Given the description of an element on the screen output the (x, y) to click on. 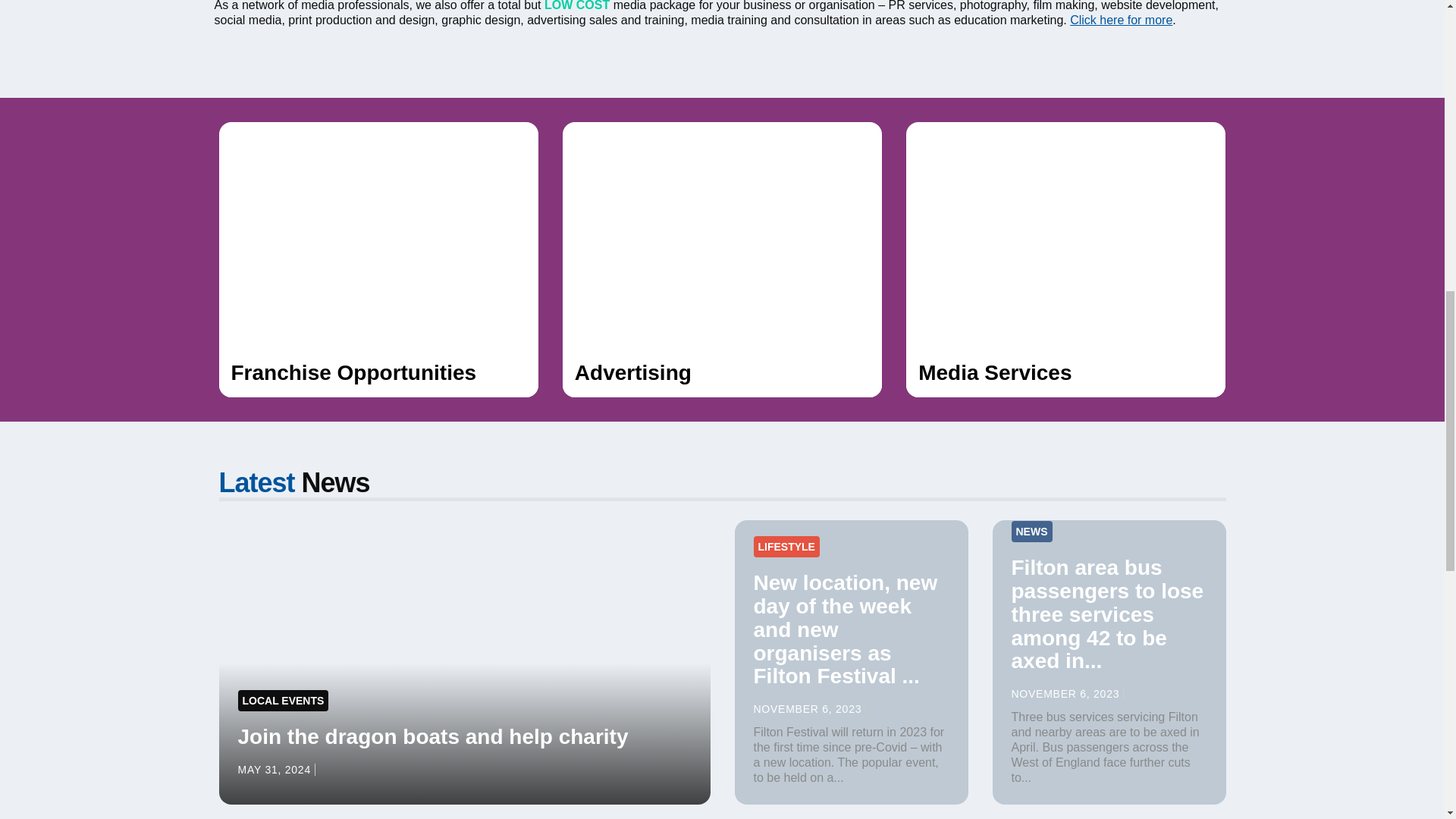
Franchise Opportunities (377, 259)
Media Services (1065, 259)
Click here for more (1121, 19)
Media Services (1065, 259)
Advertising (722, 259)
Franchise Opportunities (377, 259)
Advertising (722, 259)
